Given the description of an element on the screen output the (x, y) to click on. 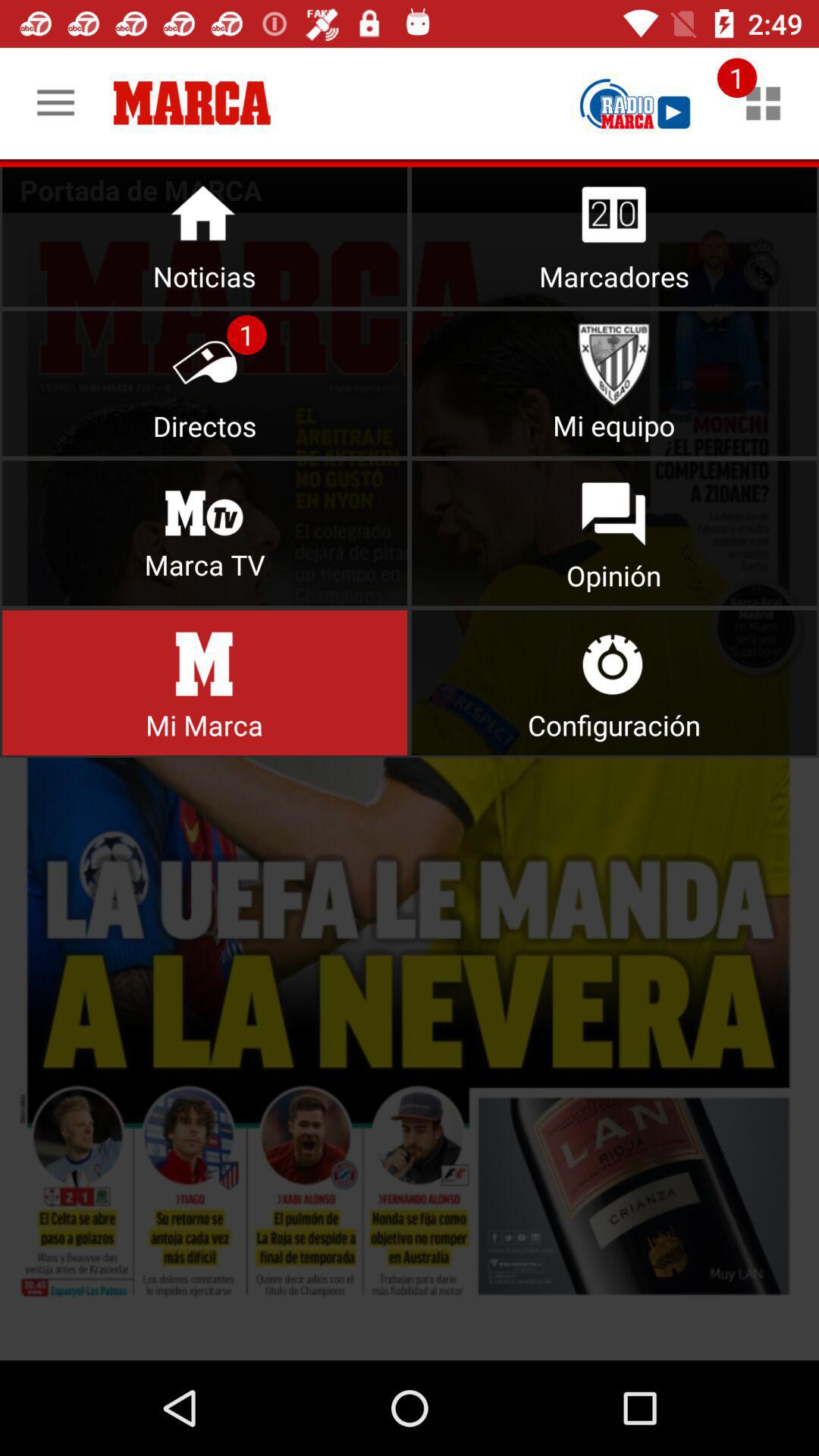
select option (204, 233)
